Given the description of an element on the screen output the (x, y) to click on. 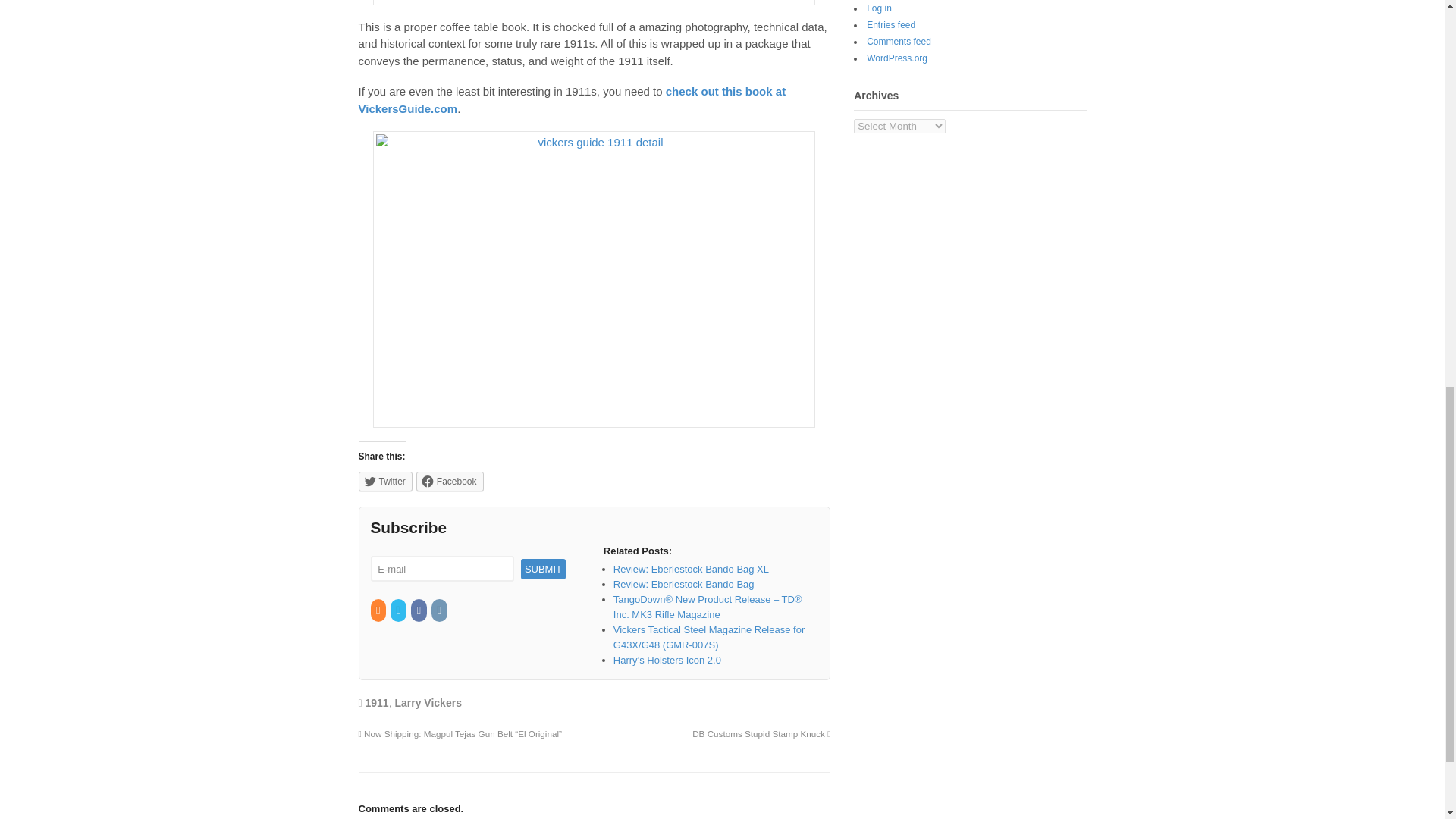
Click to share on Twitter (385, 481)
Facebook (449, 481)
Facebook (419, 610)
Review: Eberlestock Bando Bag (683, 583)
RSS (378, 610)
check out this book at VickersGuide.com (572, 100)
DB Customs Stupid Stamp Knuck (761, 733)
E-mail (441, 569)
Twitter (385, 481)
Larry Vickers (427, 702)
1911 (376, 702)
Twitter (398, 610)
Instagram (439, 610)
Submit (543, 568)
Click to share on Facebook (449, 481)
